Given the description of an element on the screen output the (x, y) to click on. 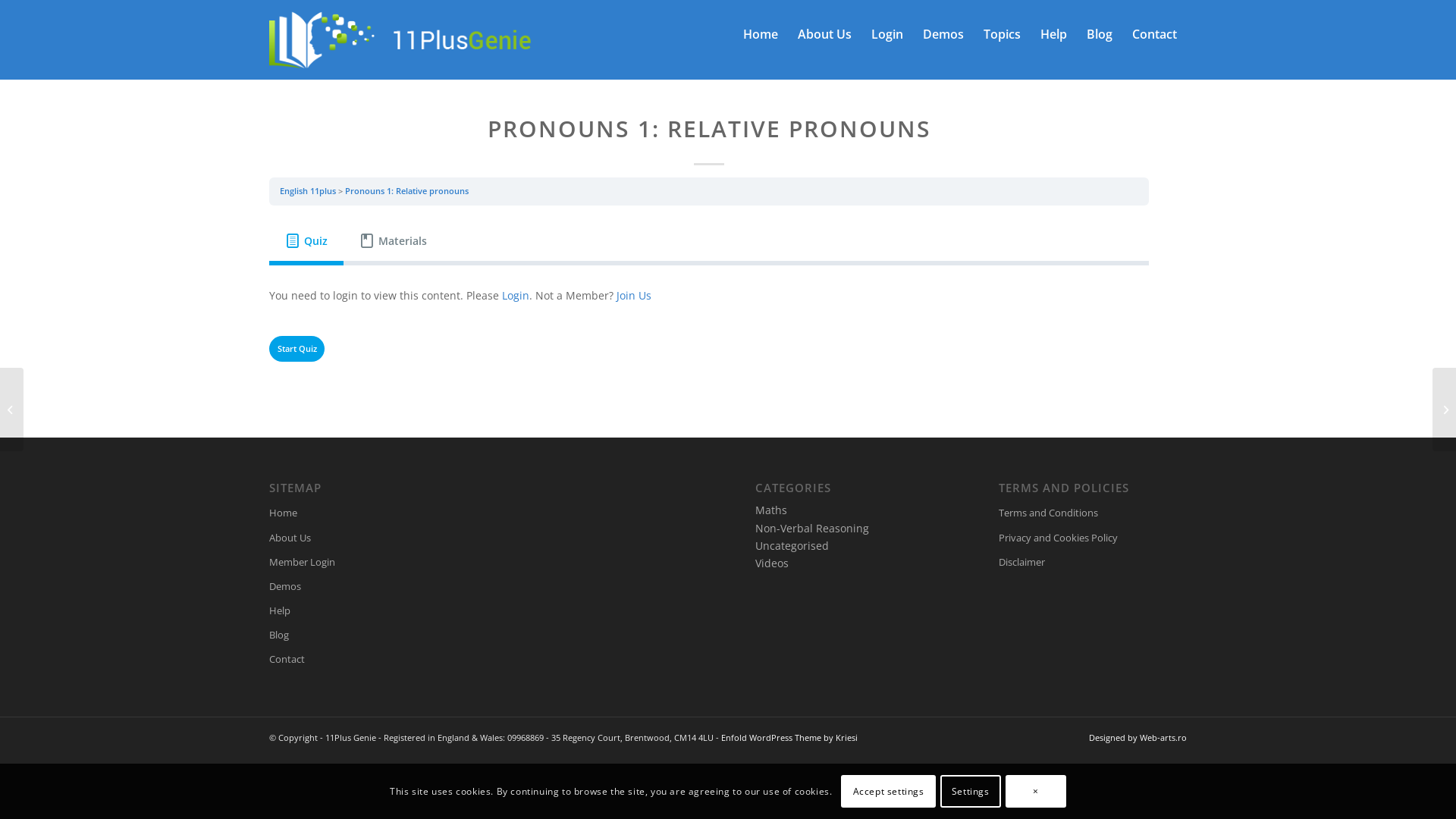
Home Element type: text (363, 513)
Help Element type: text (363, 611)
Topics Element type: text (1001, 34)
English 11plus Element type: text (307, 190)
Uncategorised Element type: text (791, 545)
Demos Element type: text (943, 34)
Enfold WordPress Theme by Kriesi Element type: text (789, 737)
Disclaimer Element type: text (1092, 562)
Contact Element type: text (1154, 34)
Pronouns 1: Relative pronouns Element type: text (406, 190)
Login Element type: text (515, 295)
Designed by Web-arts.ro Element type: text (1137, 737)
Videos Element type: text (771, 562)
Maths Element type: text (771, 509)
Privacy and Cookies Policy Element type: text (1092, 538)
Join Us Element type: text (633, 295)
Settings Element type: text (970, 790)
PRONOUNS 1: RELATIVE PRONOUNS Element type: text (708, 128)
Help Element type: text (1053, 34)
Member Login Element type: text (363, 562)
Home Element type: text (760, 34)
Login Element type: text (887, 34)
Blog Element type: text (363, 635)
Demos Element type: text (363, 586)
Non-Verbal Reasoning Element type: text (812, 527)
About Us Element type: text (824, 34)
Terms and Conditions Element type: text (1092, 513)
Accept settings Element type: text (887, 790)
Contact Element type: text (363, 659)
About Us Element type: text (363, 538)
logo Element type: hover (399, 34)
Blog Element type: text (1099, 34)
